Given the description of an element on the screen output the (x, y) to click on. 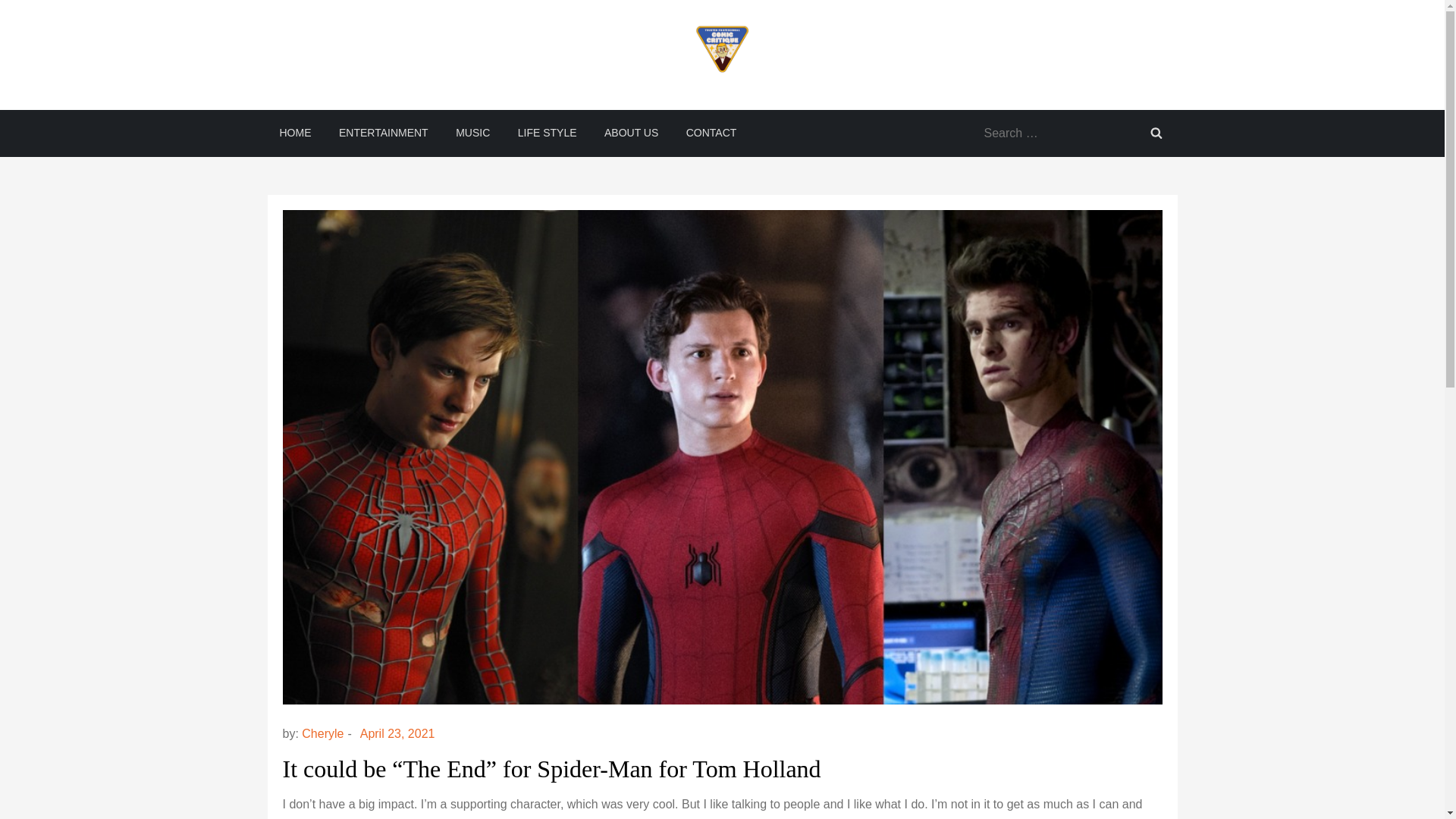
ENTERTAINMENT (383, 132)
April 23, 2021 (397, 733)
MUSIC (473, 132)
ABOUT US (630, 132)
Cheryle (322, 733)
HOME (294, 132)
CONTACT (711, 132)
LIFE STYLE (547, 132)
Search (1155, 132)
TRUSTED PROFESSIONAL (411, 104)
